Given the description of an element on the screen output the (x, y) to click on. 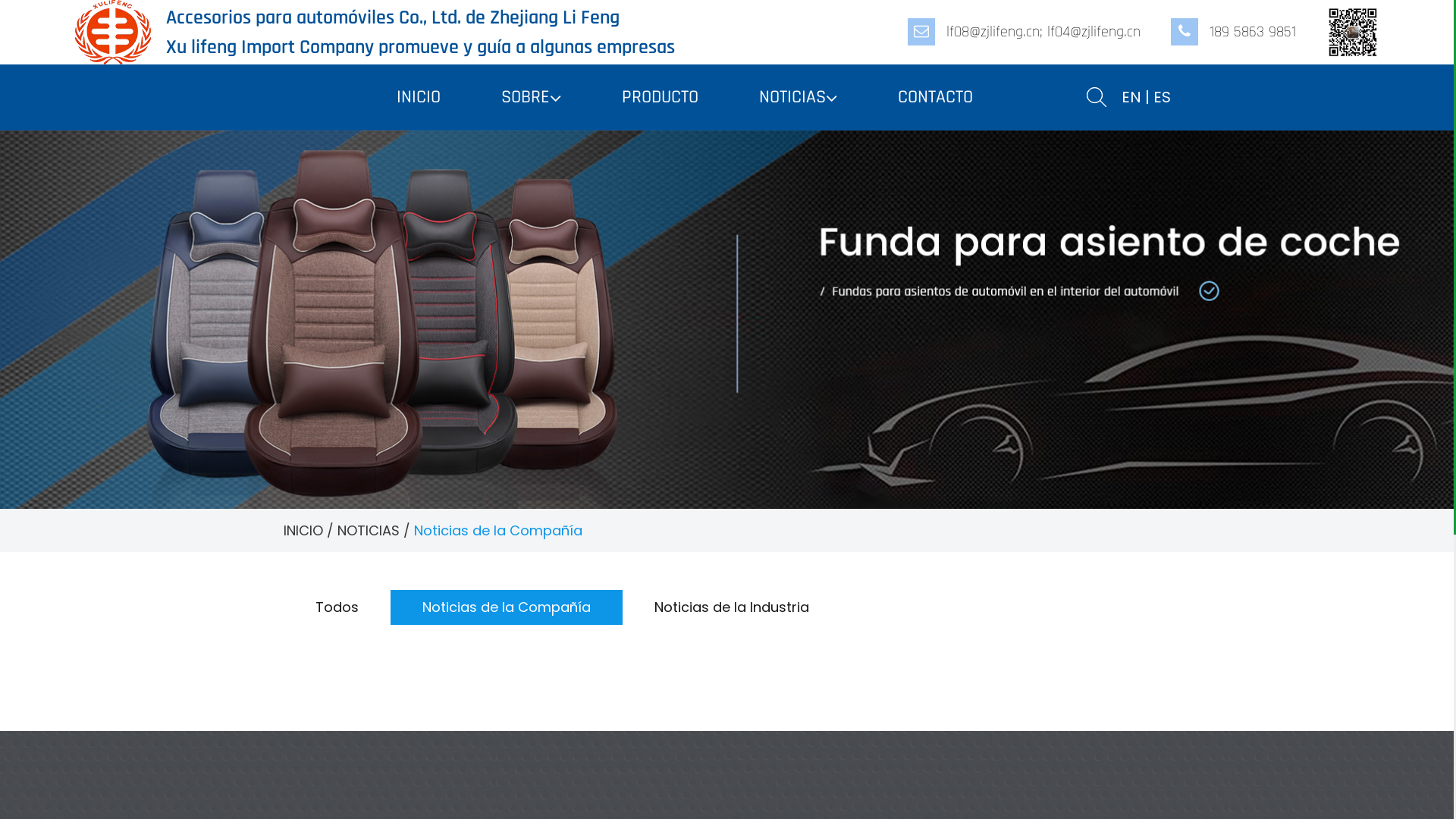
Noticias de la Industria Element type: text (730, 606)
ES Element type: text (1161, 96)
EN Element type: text (1130, 96)
PRODUCTO Element type: text (659, 96)
Todos Element type: text (336, 606)
CONTACTO Element type: text (934, 96)
SOBRE Element type: text (531, 97)
INICIO Element type: text (418, 96)
INICIO Element type: text (303, 529)
NOTICIAS Element type: text (367, 529)
NOTICIAS Element type: text (798, 97)
